Given the description of an element on the screen output the (x, y) to click on. 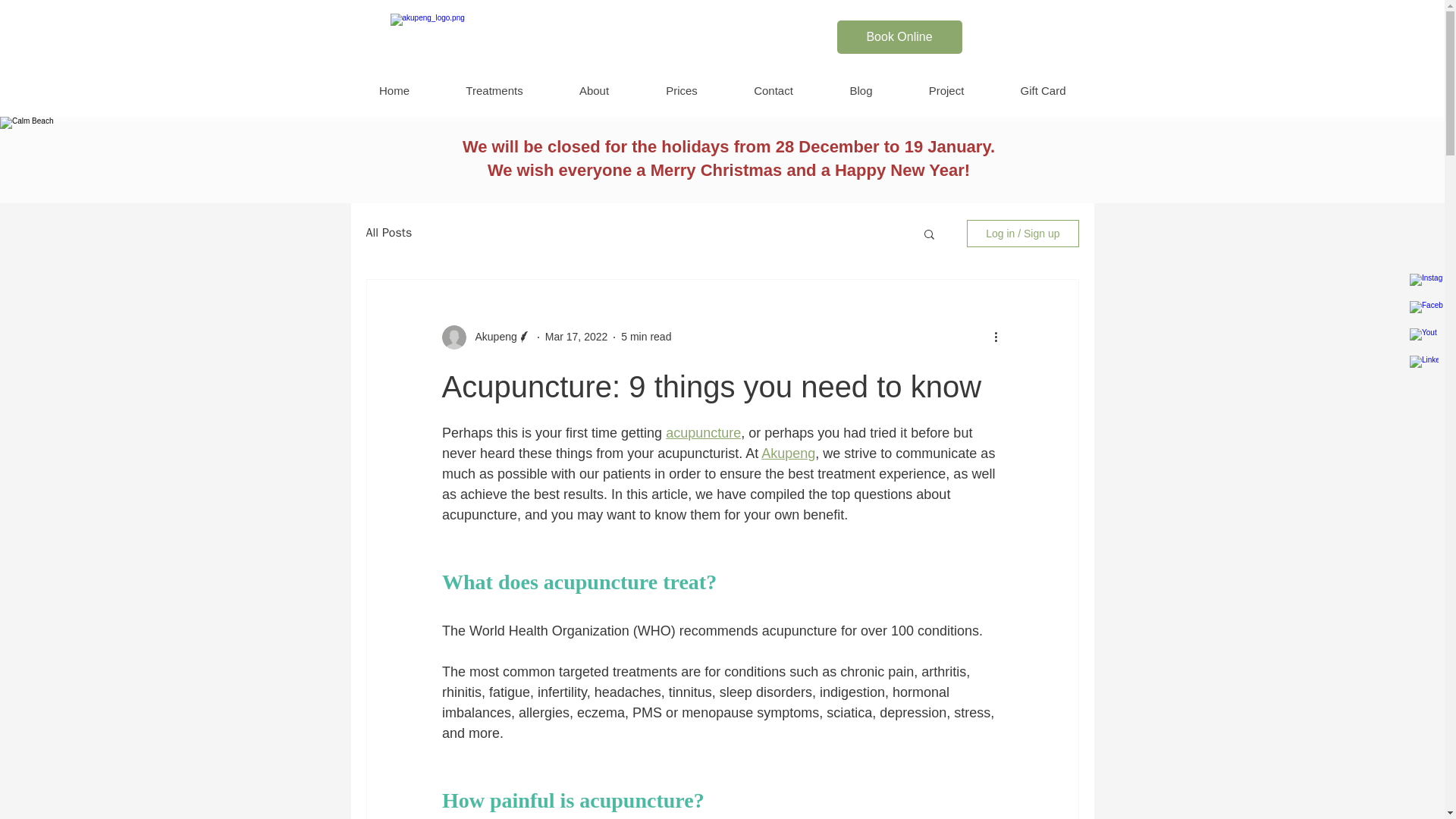
Book Online (899, 37)
About (593, 90)
All Posts (388, 232)
Home (394, 90)
Contact (773, 90)
Mar 17, 2022 (576, 336)
Prices (681, 90)
Akupeng (490, 336)
5 min read (646, 336)
Blog (860, 90)
acupuncture (703, 432)
Gift Card (1042, 90)
Akupeng (788, 453)
Project (946, 90)
Akupeng (486, 337)
